Given the description of an element on the screen output the (x, y) to click on. 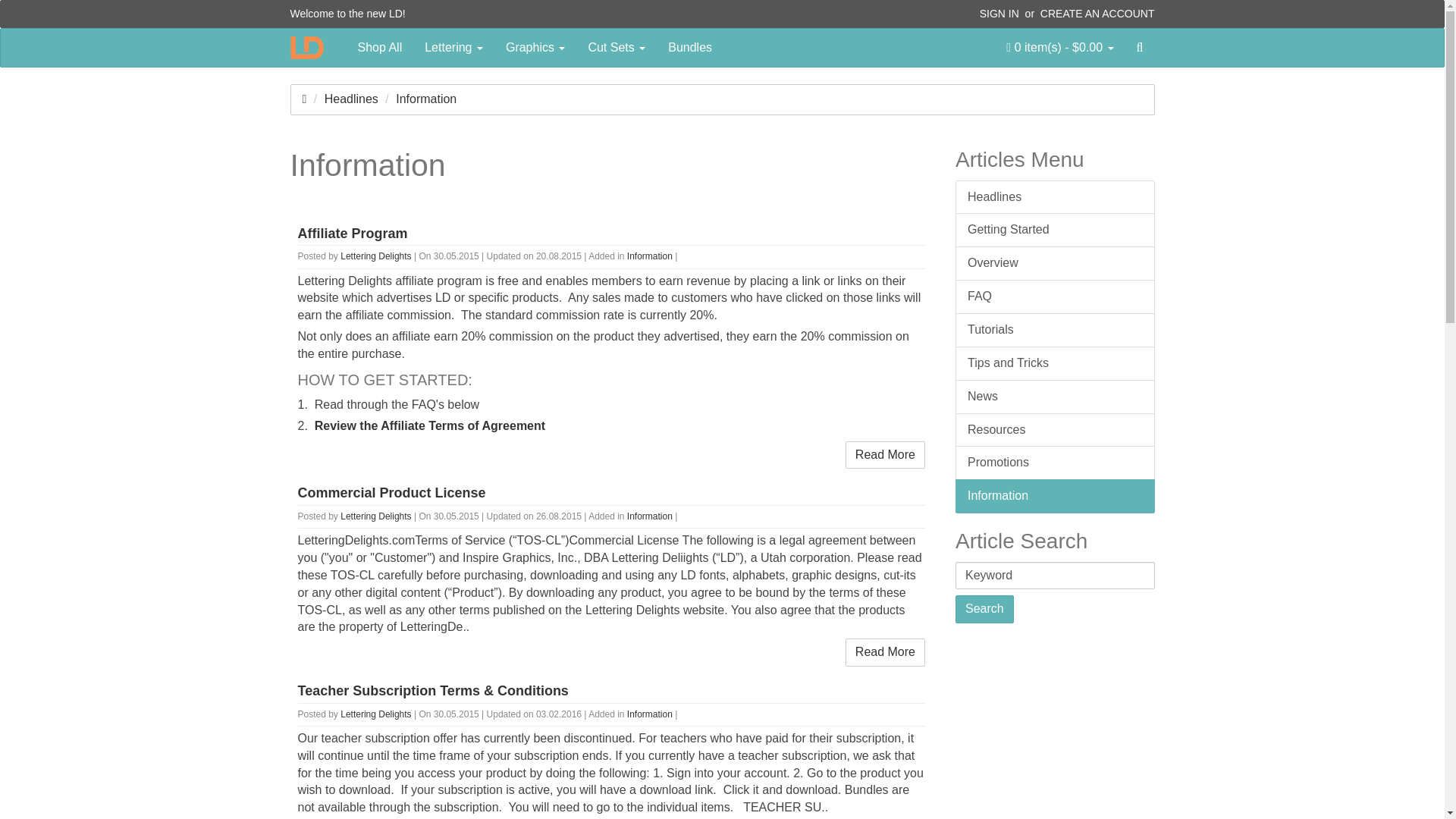
Search (1139, 47)
Keyword (1054, 574)
Welcome to the new LD! (346, 13)
Graphics (535, 47)
Information (649, 516)
Headlines (351, 98)
SIGN IN (999, 13)
Shopping Cart (1059, 47)
Lettering (454, 47)
CREATE AN ACCOUNT (1097, 13)
Cut Sets (616, 47)
Review the Affiliate Terms of Agreement (429, 425)
Shop All (379, 47)
Affiliate Program (352, 233)
Commercial Product License (390, 492)
